Given the description of an element on the screen output the (x, y) to click on. 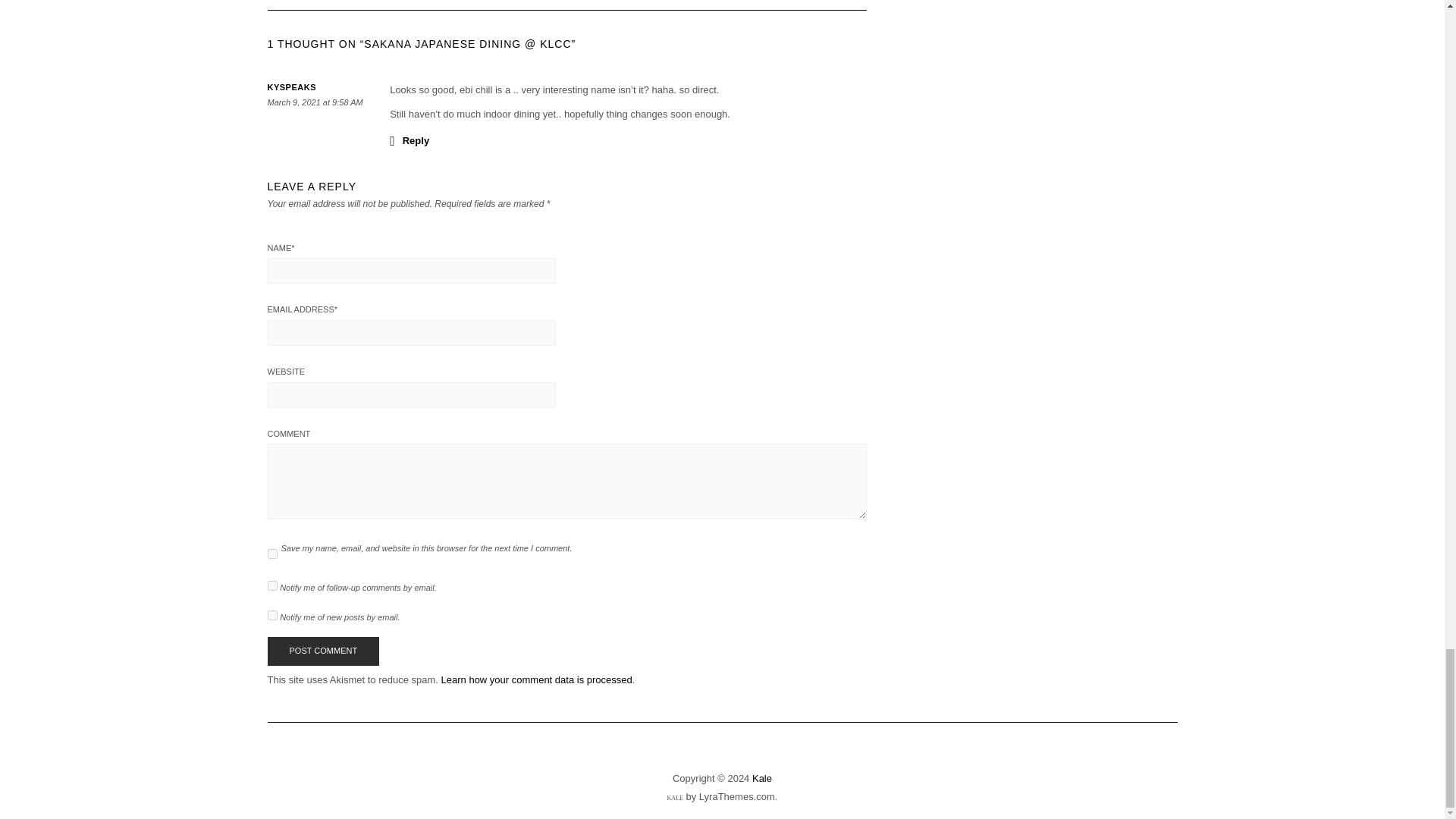
yes (271, 553)
Post Comment (322, 651)
subscribe (271, 585)
subscribe (271, 614)
